Given the description of an element on the screen output the (x, y) to click on. 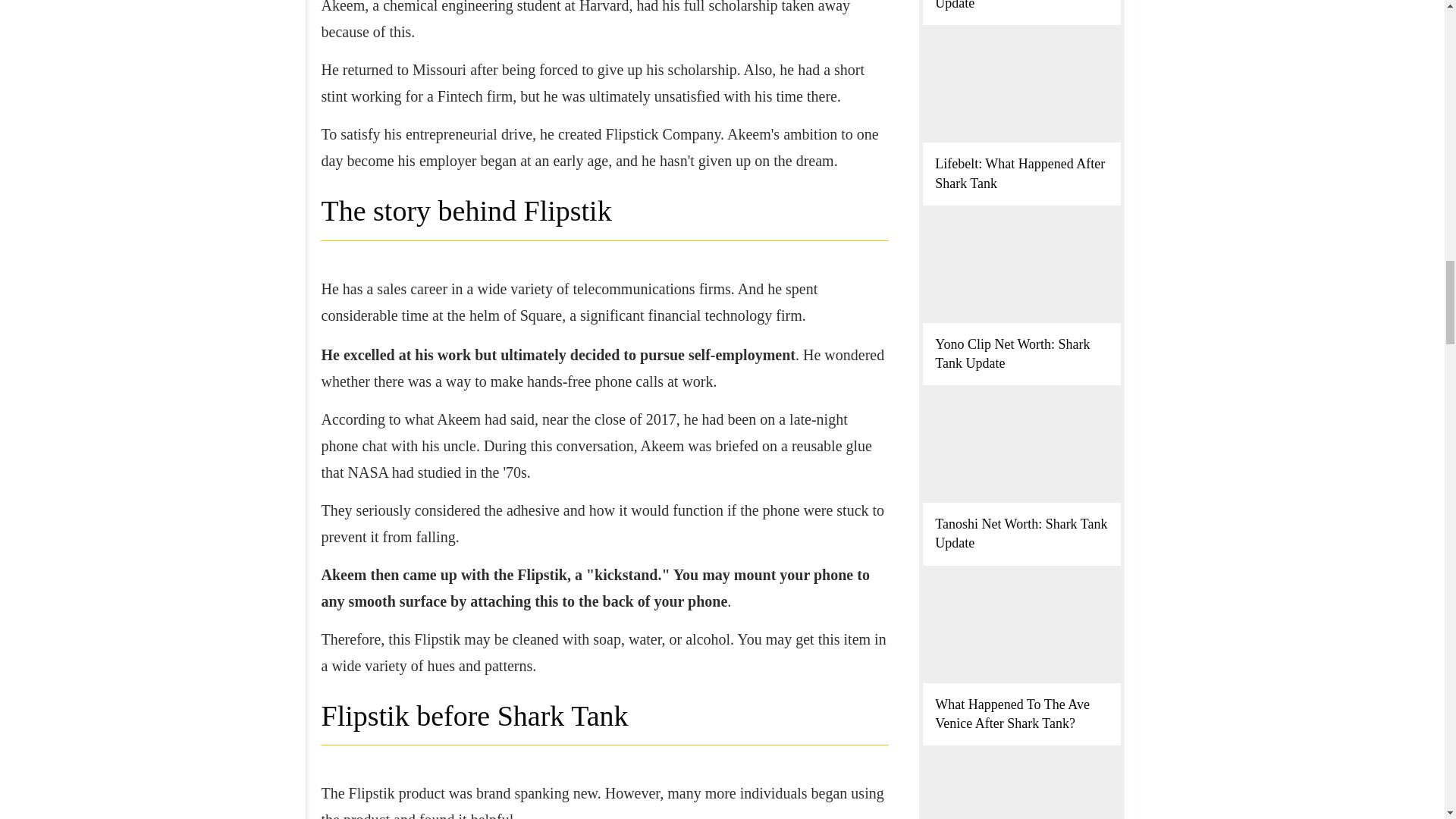
Lifebelt: What Happened After Shark Tank (1019, 173)
Yono Clip Net Worth: Shark Tank Update (1011, 353)
Muff Waders: Shark Tank Update (1004, 5)
